Given the description of an element on the screen output the (x, y) to click on. 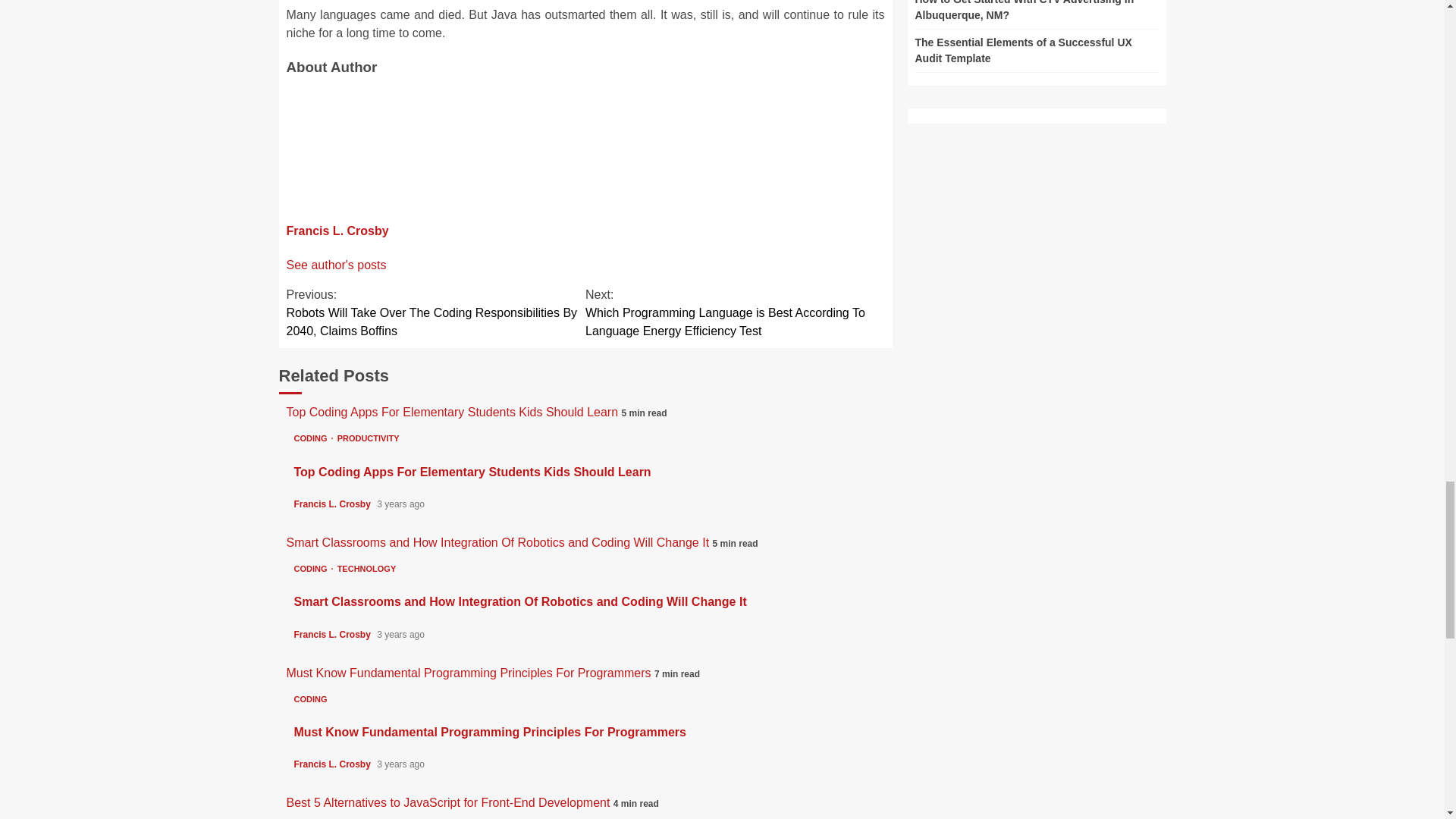
See author's posts (336, 264)
Francis L. Crosby (334, 764)
Francis L. Crosby (334, 503)
CODING (313, 438)
Best 5 Alternatives to JavaScript for Front-End Development (449, 802)
Francis L. Crosby (337, 230)
CODING (313, 569)
Top Coding Apps For Elementary Students Kids Should Learn (472, 472)
Top Coding Apps For Elementary Students Kids Should Learn (453, 411)
Francis L. Crosby (334, 634)
PRODUCTIVITY (367, 438)
